Given the description of an element on the screen output the (x, y) to click on. 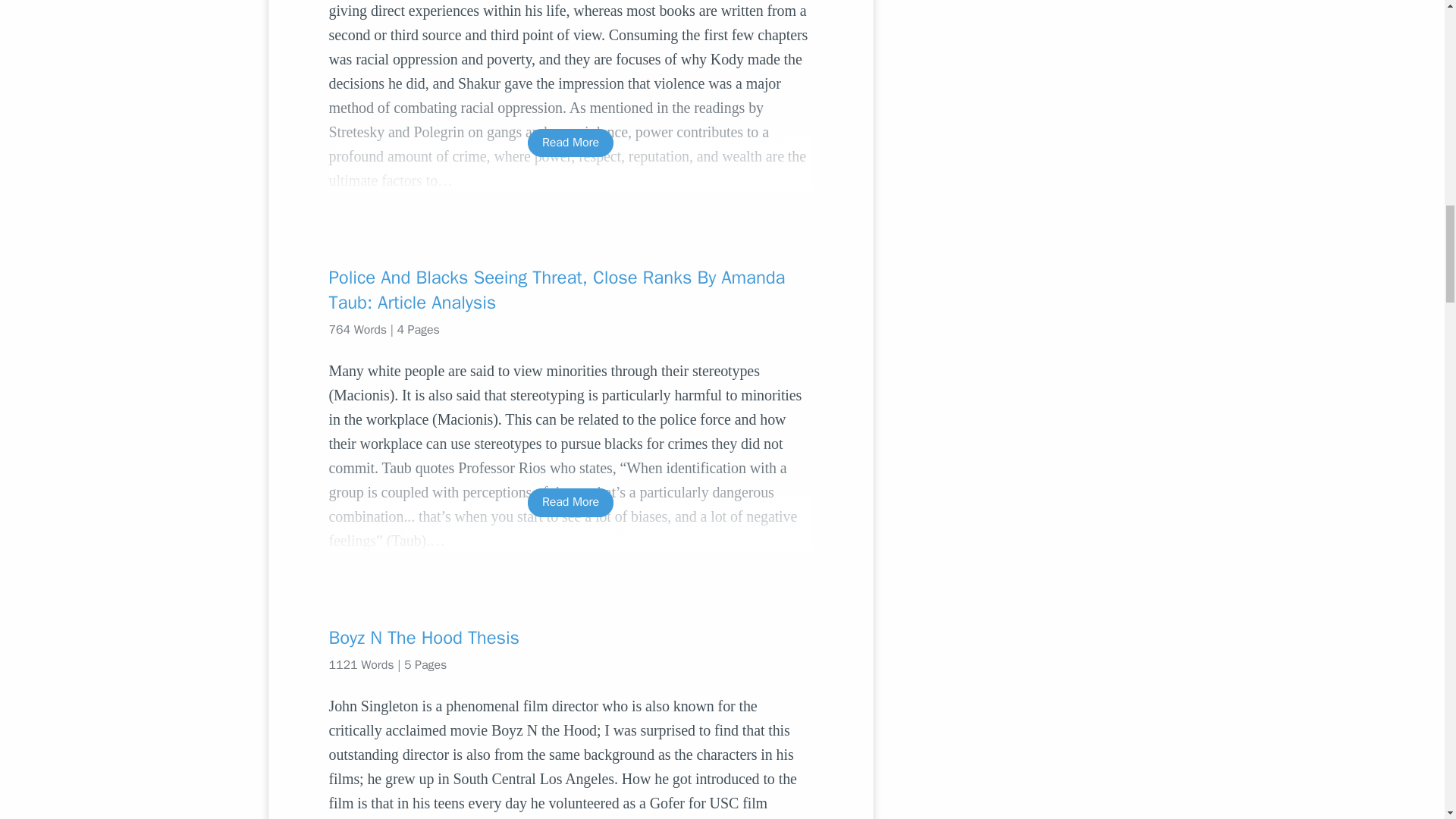
Boyz N The Hood Thesis (570, 637)
Read More (569, 142)
Read More (569, 502)
